Given the description of an element on the screen output the (x, y) to click on. 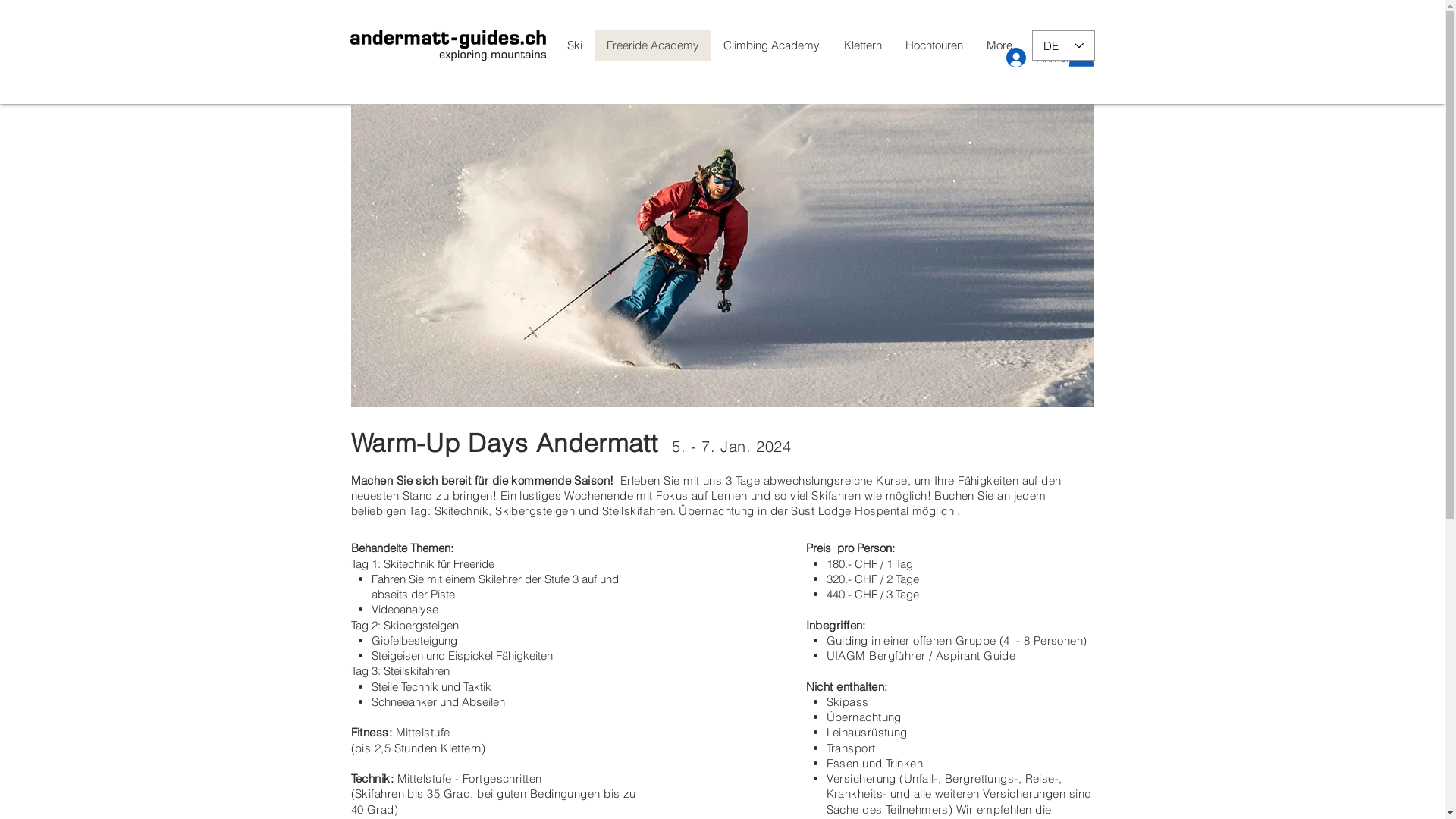
Ski Element type: text (574, 45)
Klettern Element type: text (861, 45)
Hochtouren Element type: text (933, 45)
Tour.jpg Element type: hover (721, 255)
0 Element type: text (1080, 50)
Sust Lodge Hospental Element type: text (849, 510)
AG_Logo_Black.png Element type: hover (448, 45)
Freeride Academy Element type: text (652, 45)
Anmelden Element type: text (1039, 57)
Climbing Academy Element type: text (771, 45)
